Given the description of an element on the screen output the (x, y) to click on. 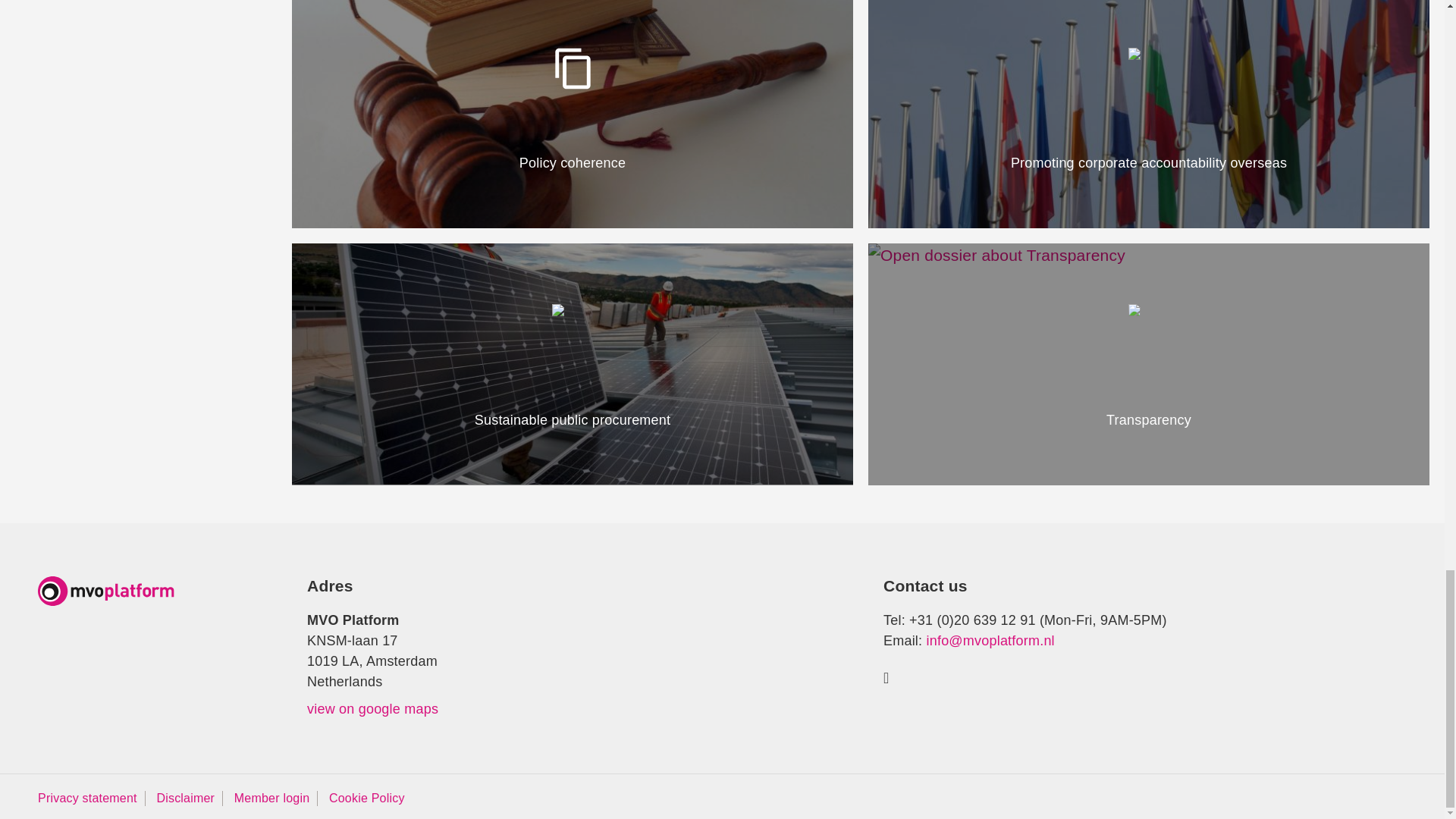
Member login (271, 797)
view on google maps (372, 708)
MVO Platform (105, 591)
Promoting corporate accountability overseas (1148, 114)
Privacy statement (86, 797)
Disclaimer (184, 797)
Policy coherence (572, 114)
